Given the description of an element on the screen output the (x, y) to click on. 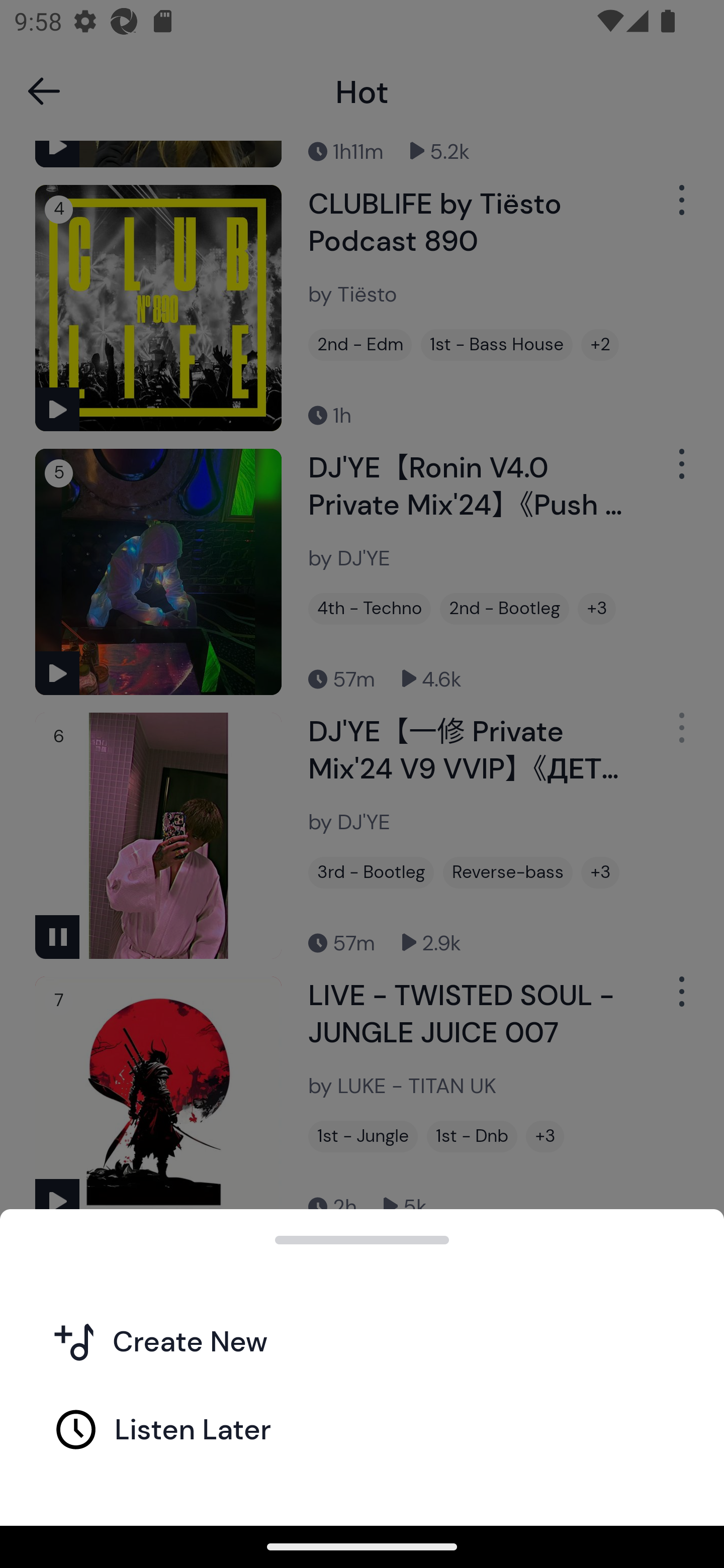
Create New (361, 1340)
Listen Later (361, 1428)
